Given the description of an element on the screen output the (x, y) to click on. 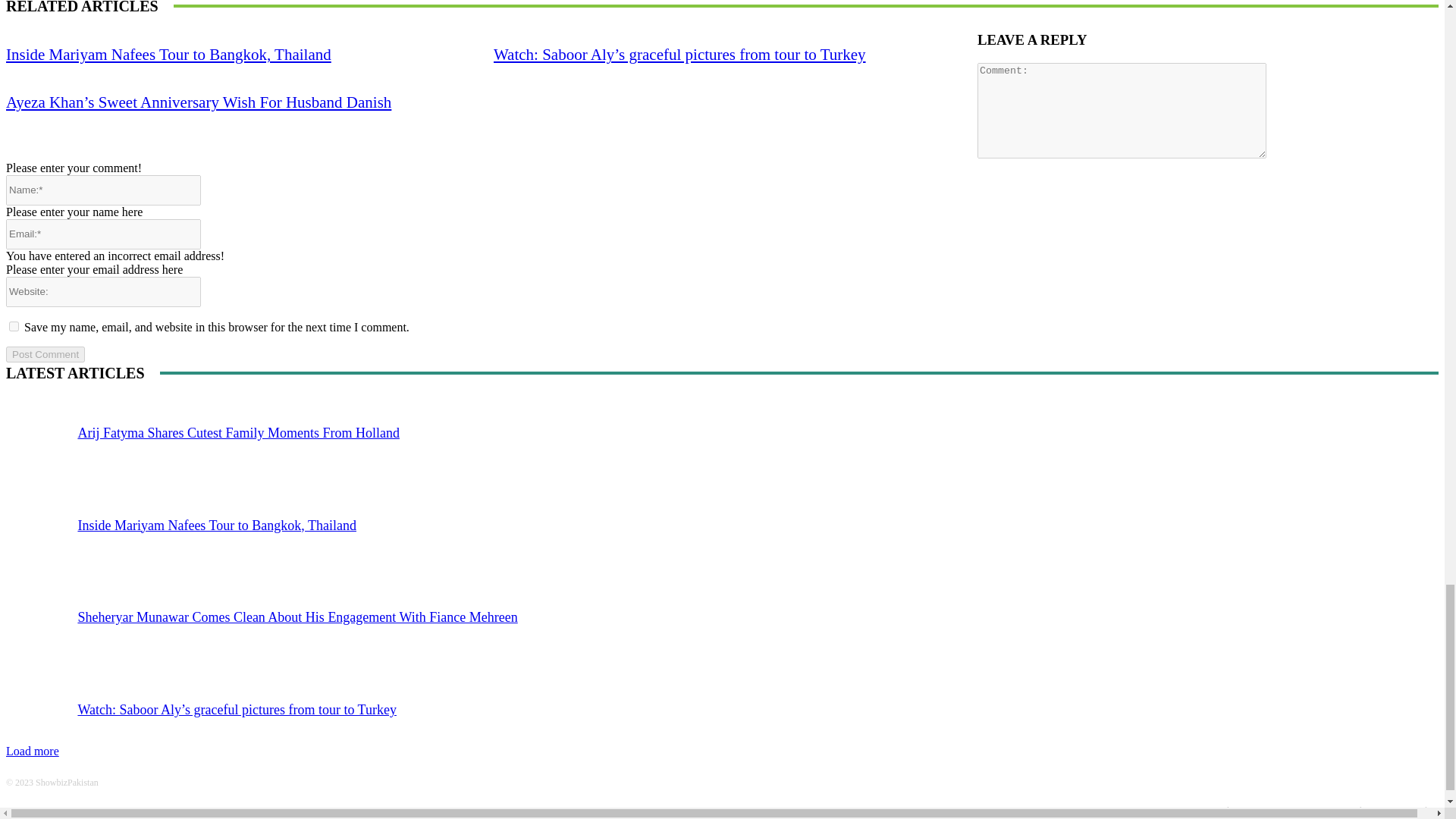
yes (13, 326)
Post Comment (44, 354)
